Given the description of an element on the screen output the (x, y) to click on. 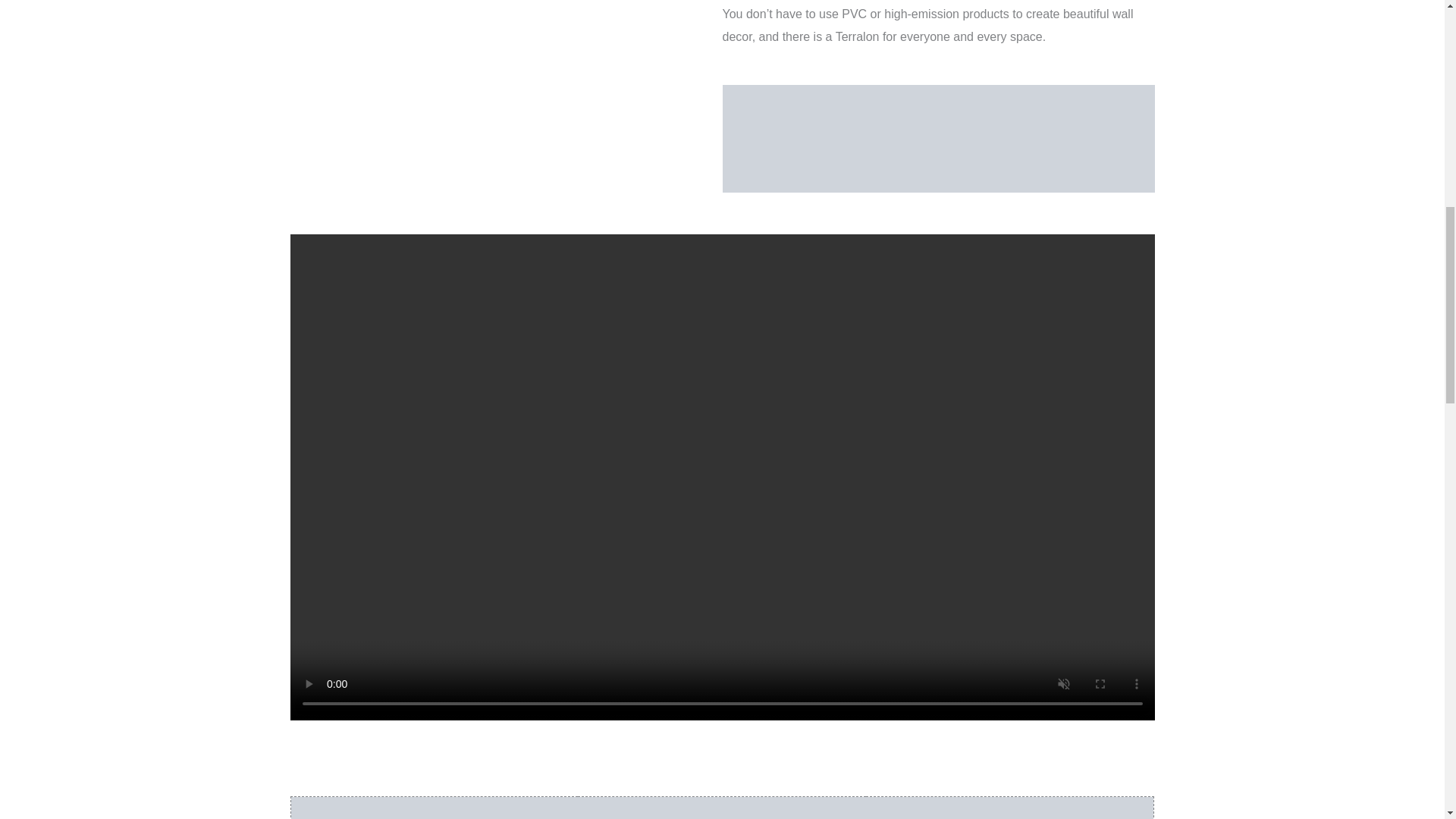
TerralonTransformation (1009, 807)
Transformation Arrow (722, 807)
